Given the description of an element on the screen output the (x, y) to click on. 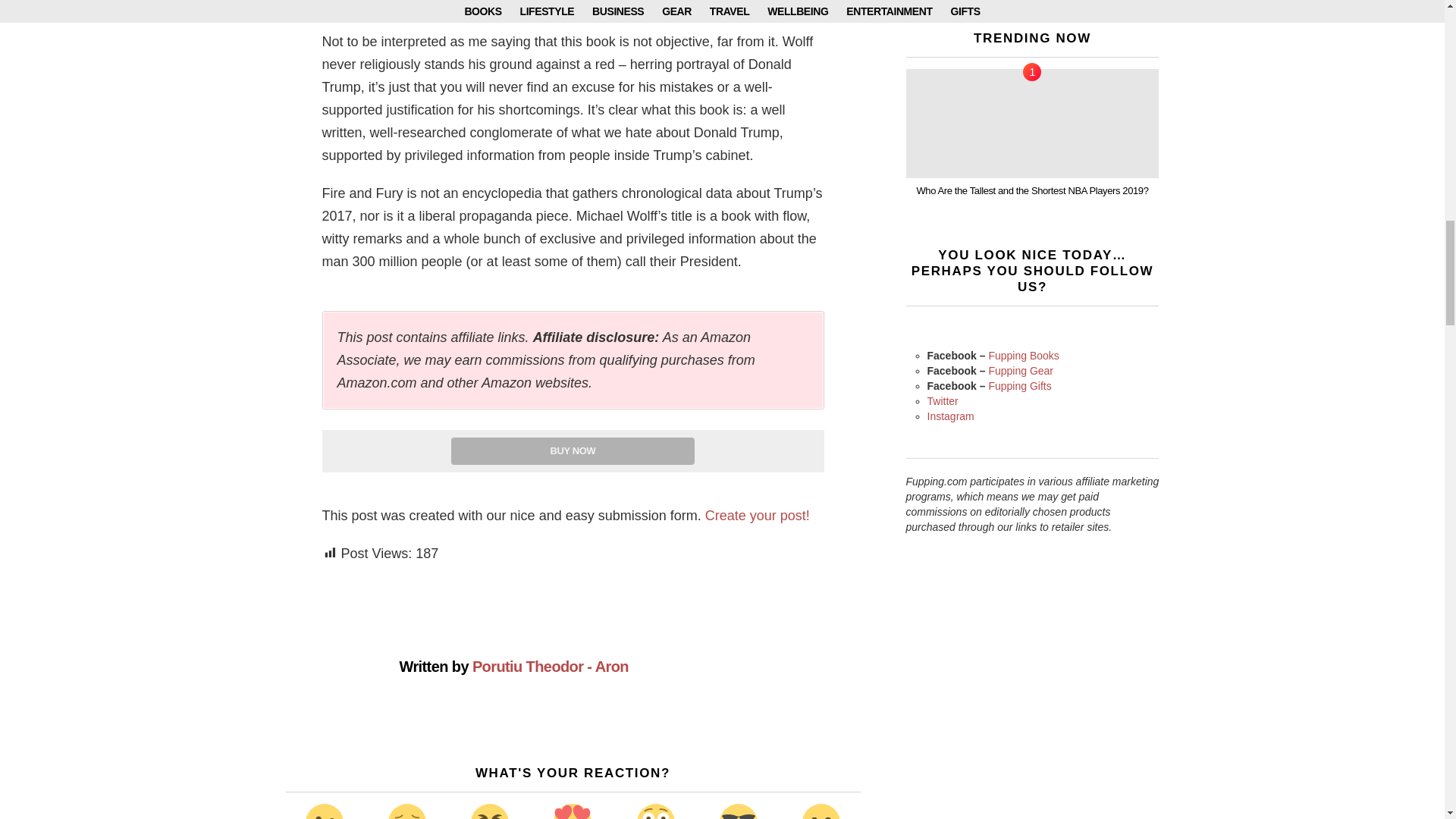
BUY NOW (572, 451)
